Given the description of an element on the screen output the (x, y) to click on. 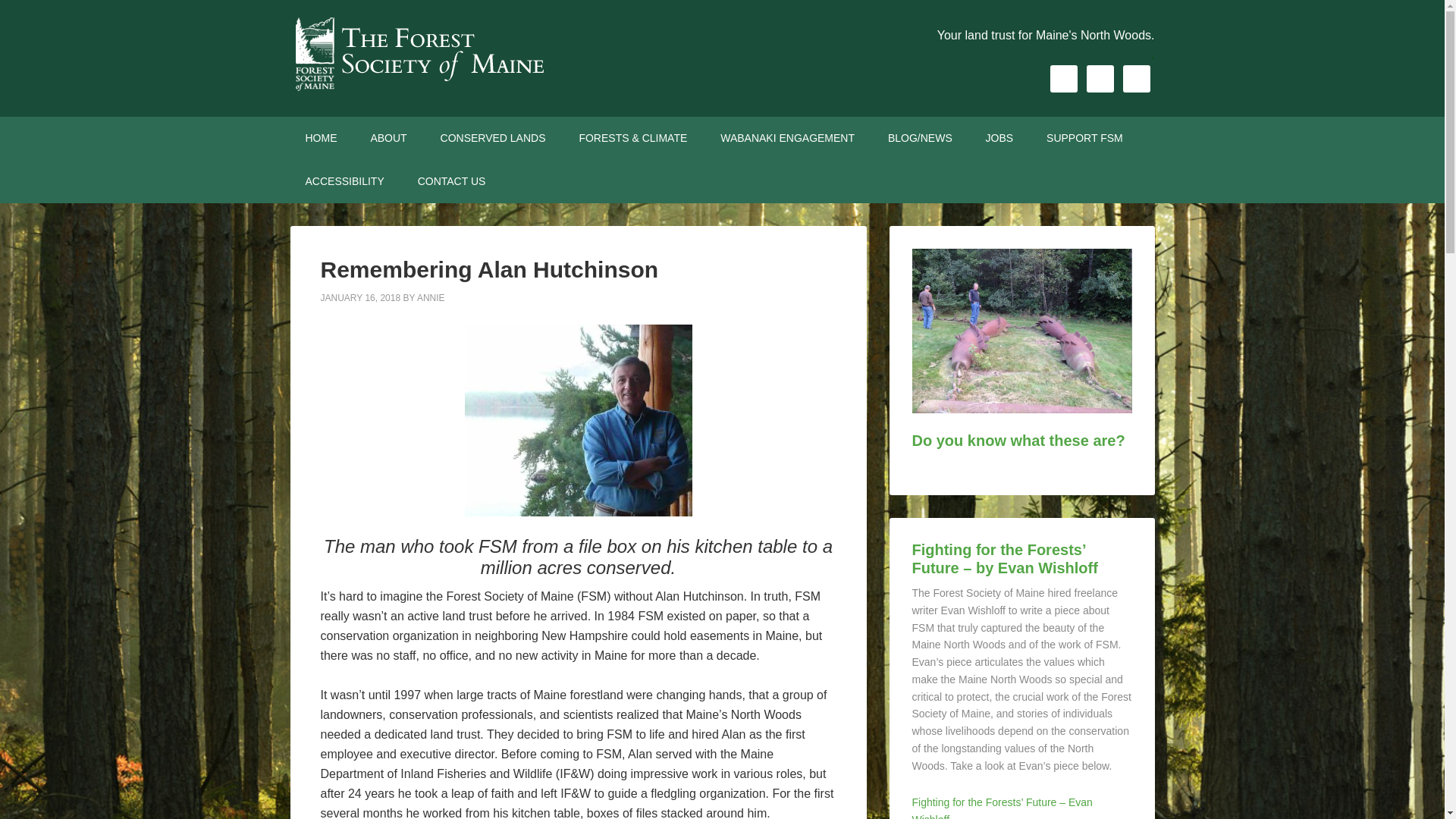
FOREST SOCIETY OF MAINE (418, 52)
ABOUT (388, 138)
JOBS (1000, 138)
CONSERVED LANDS (492, 138)
WABANAKI ENGAGEMENT (786, 138)
HOME (320, 138)
SUPPORT FSM (1084, 138)
